Given the description of an element on the screen output the (x, y) to click on. 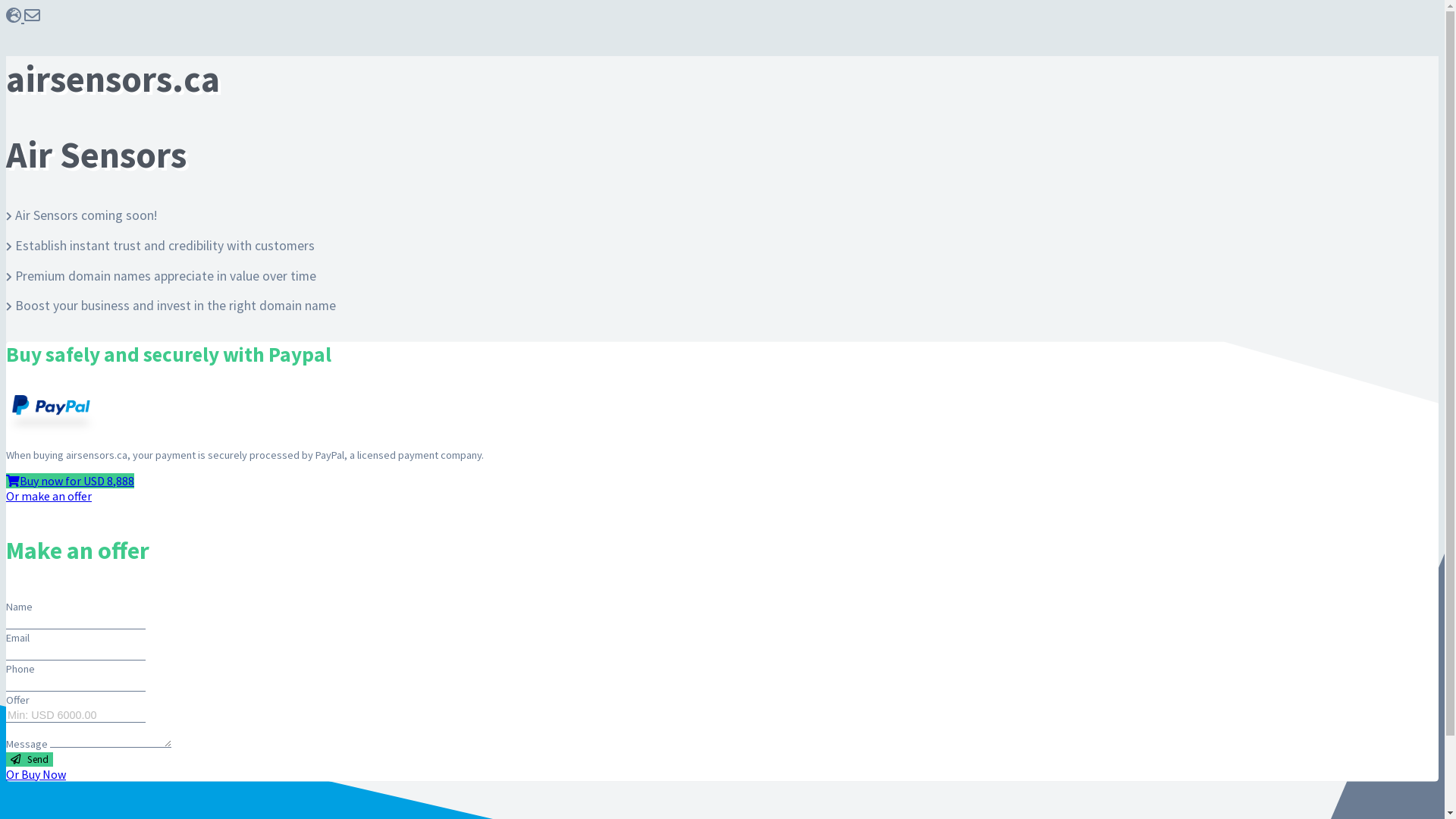
Or make an offer Element type: text (48, 495)
Or Buy Now Element type: text (35, 773)
Buy now for USD 8,888 Element type: text (70, 480)
